Given the description of an element on the screen output the (x, y) to click on. 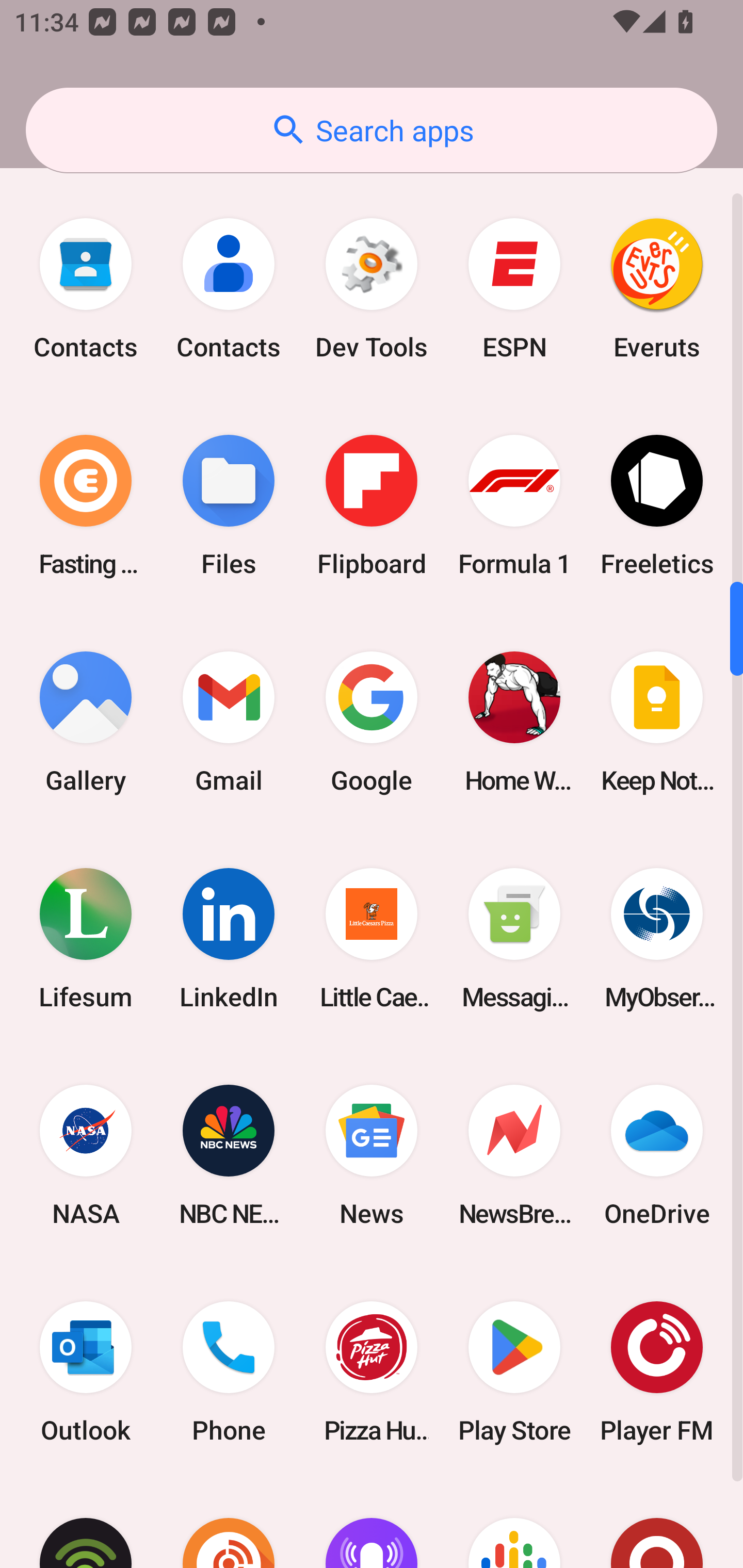
  Search apps (371, 130)
Contacts (85, 288)
Contacts (228, 288)
Dev Tools (371, 288)
ESPN (514, 288)
Everuts (656, 288)
Fasting Coach (85, 504)
Files (228, 504)
Flipboard (371, 504)
Formula 1 (514, 504)
Freeletics (656, 504)
Gallery (85, 722)
Gmail (228, 722)
Google (371, 722)
Home Workout (514, 722)
Keep Notes (656, 722)
Lifesum (85, 939)
LinkedIn (228, 939)
Little Caesars Pizza (371, 939)
Messaging (514, 939)
MyObservatory (656, 939)
NASA (85, 1155)
NBC NEWS (228, 1155)
News (371, 1155)
NewsBreak (514, 1155)
OneDrive (656, 1155)
Outlook (85, 1371)
Phone (228, 1371)
Pizza Hut HK & Macau (371, 1371)
Play Store (514, 1371)
Player FM (656, 1371)
